Given the description of an element on the screen output the (x, y) to click on. 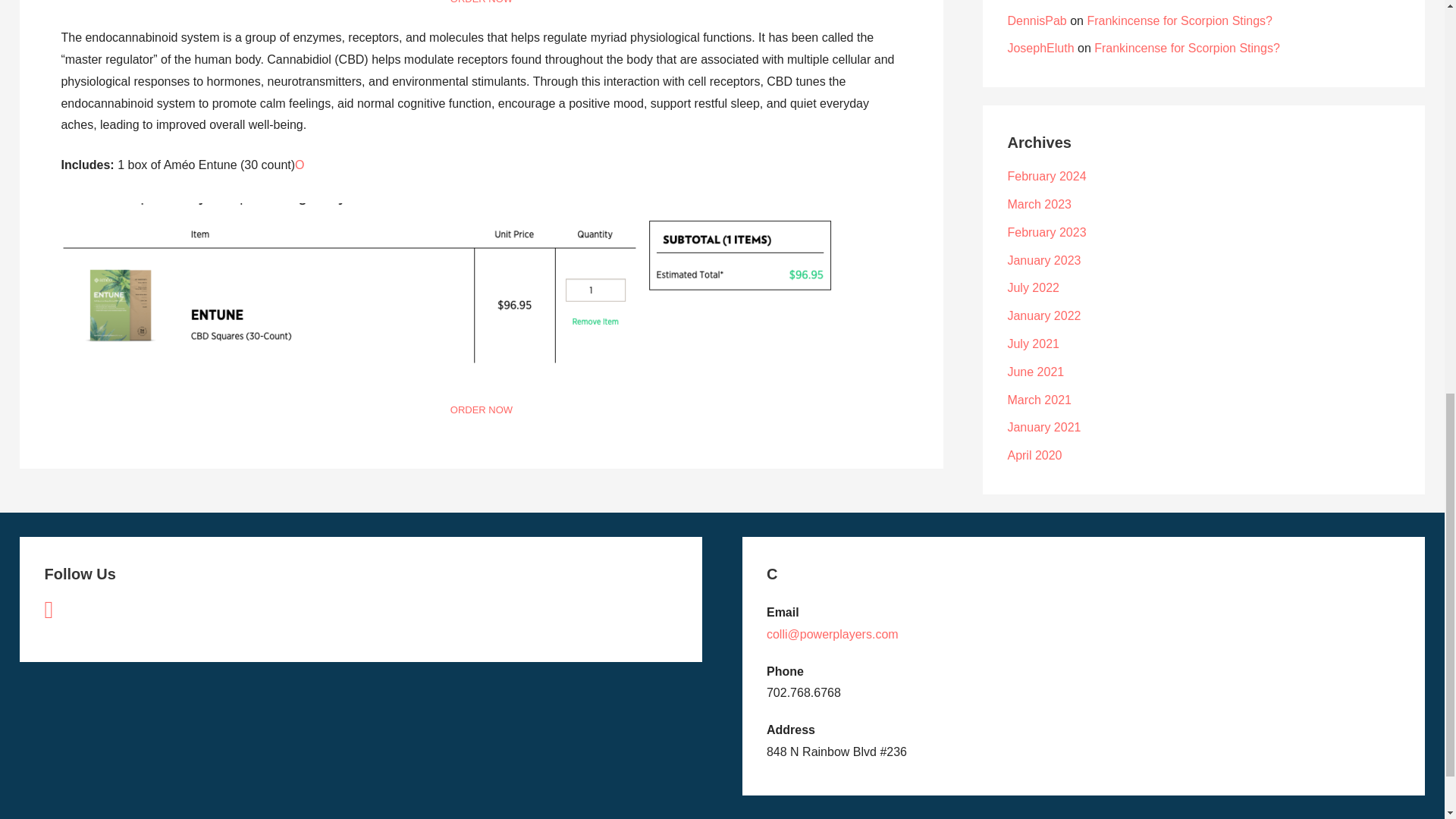
February 2024 (1046, 175)
DennisPab (1036, 20)
ORDER NOW (480, 2)
JosephEluth (1040, 47)
ORDER NOW (480, 409)
June 2021 (1035, 371)
Frankincense for Scorpion Stings? (1186, 47)
March 2021 (1039, 399)
January 2021 (1043, 427)
January 2022 (1043, 315)
July 2022 (1033, 287)
February 2023 (1046, 232)
Frankincense for Scorpion Stings? (1179, 20)
April 2020 (1034, 454)
March 2023 (1039, 204)
